Given the description of an element on the screen output the (x, y) to click on. 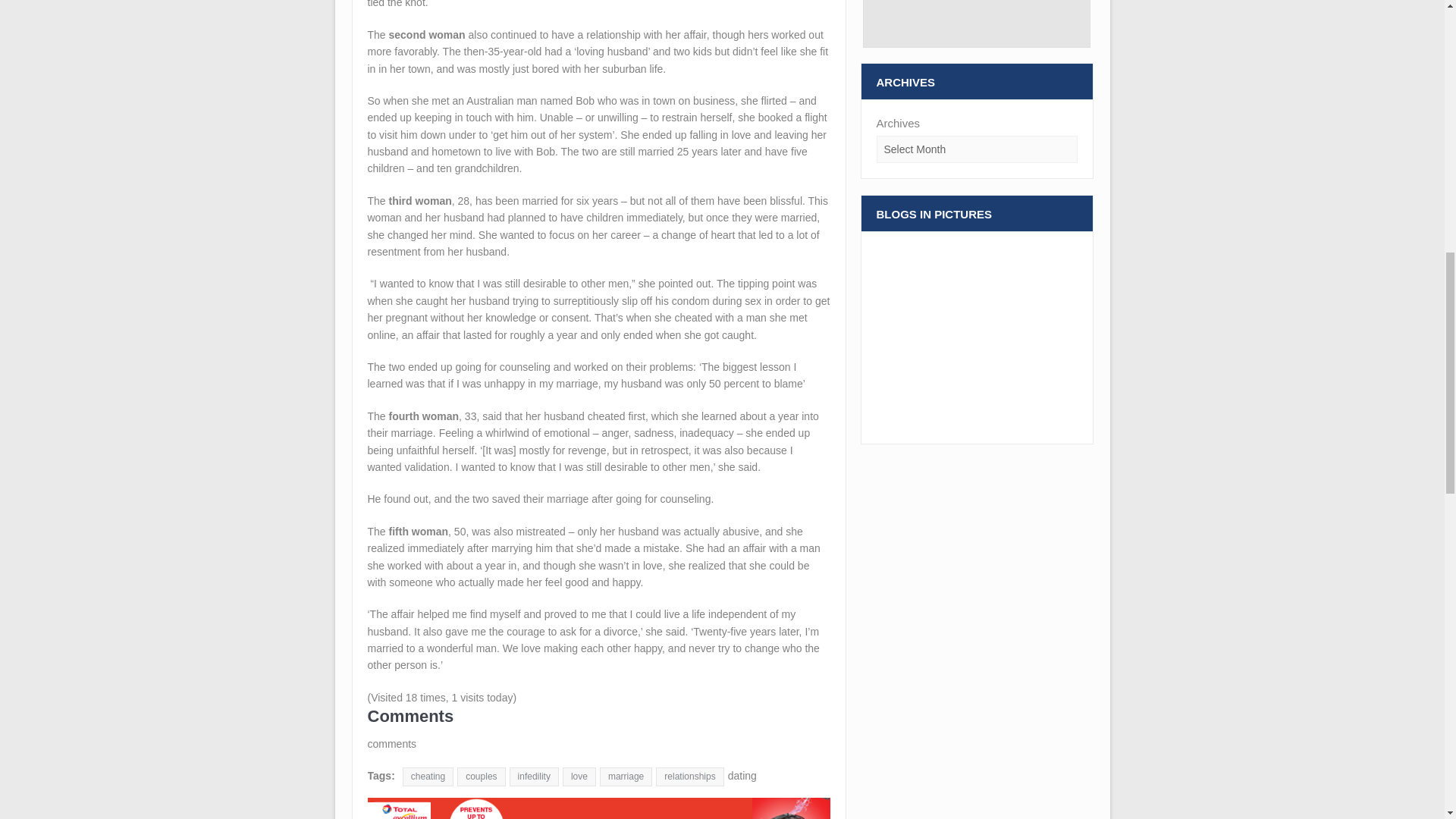
couples (481, 776)
relationships (689, 776)
love (578, 776)
cheating (427, 776)
infedility (534, 776)
marriage (625, 776)
